Given the description of an element on the screen output the (x, y) to click on. 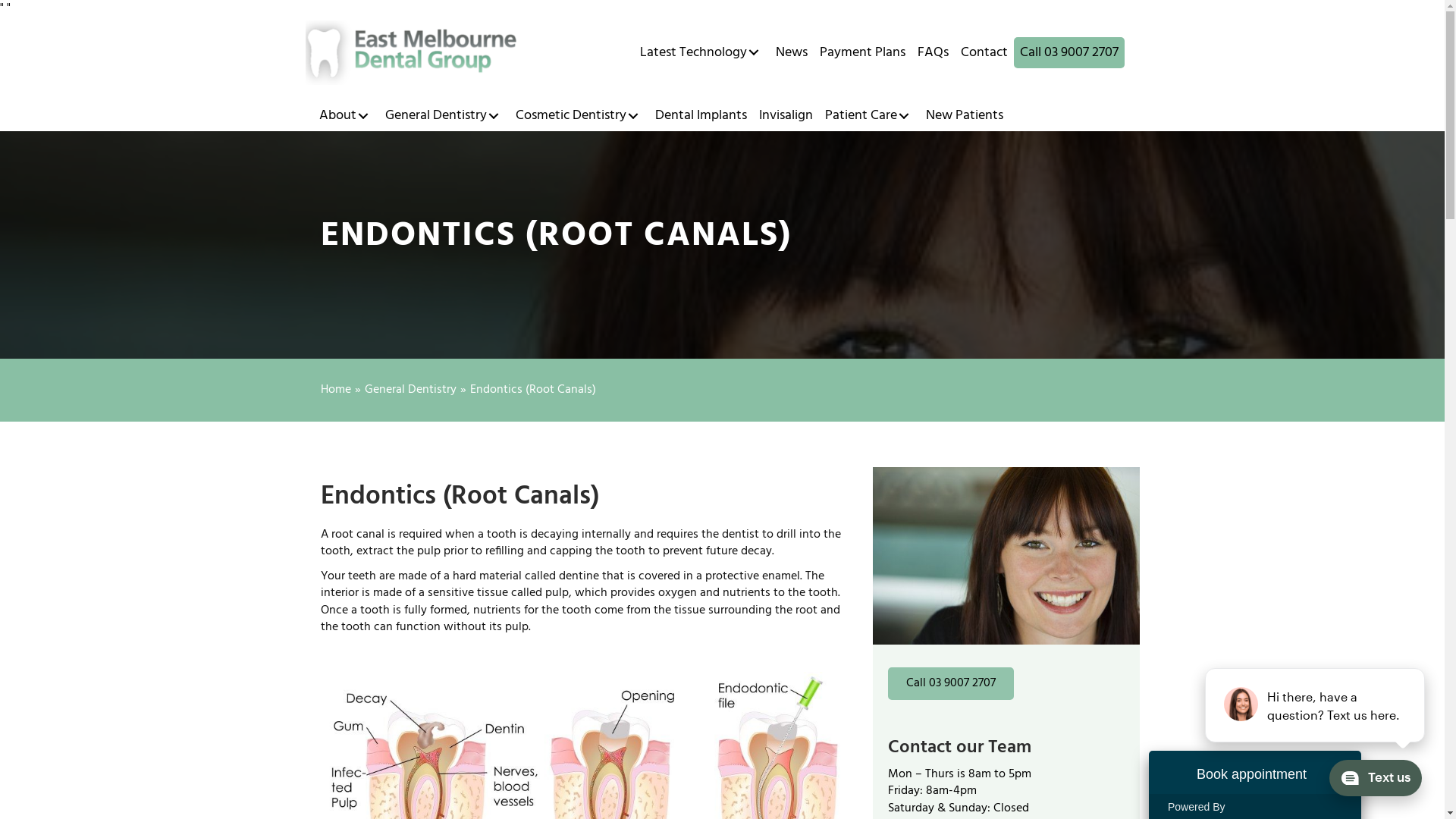
Patient Care Element type: text (869, 115)
East Melbourne Element type: hover (410, 52)
Call 03 9007 2707 Element type: text (1068, 52)
podium webchat widget prompt Element type: hover (1315, 705)
General Dentistry Element type: text (409, 389)
General Dentistry Element type: text (444, 115)
Cosmetic Dentistry Element type: text (579, 115)
News Element type: text (791, 52)
FAQs Element type: text (932, 52)
Latest Technology Element type: text (701, 52)
Invisalign Element type: text (785, 115)
Home Element type: text (335, 389)
Dental Implants Element type: text (701, 115)
Contact Element type: text (983, 52)
Bigstock Beautiful And Happy 520804 Element type: hover (1005, 556)
About Element type: text (345, 115)
Call 03 9007 2707 Element type: text (950, 683)
New Patients Element type: text (963, 115)
Payment Plans Element type: text (862, 52)
